Given the description of an element on the screen output the (x, y) to click on. 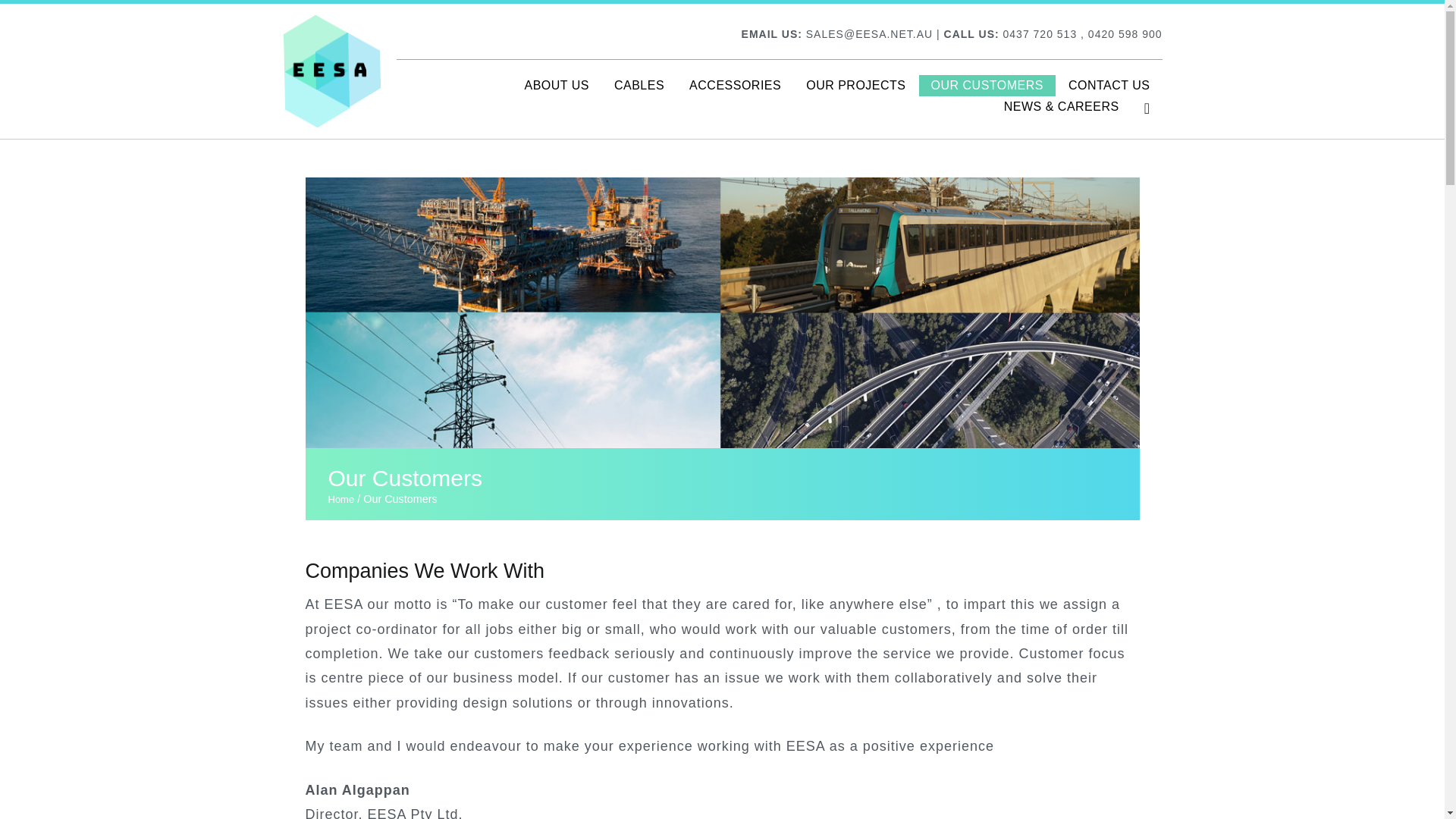
ABOUT US (556, 85)
Welcome to EESA (460, 81)
CABLES (639, 85)
